Given the description of an element on the screen output the (x, y) to click on. 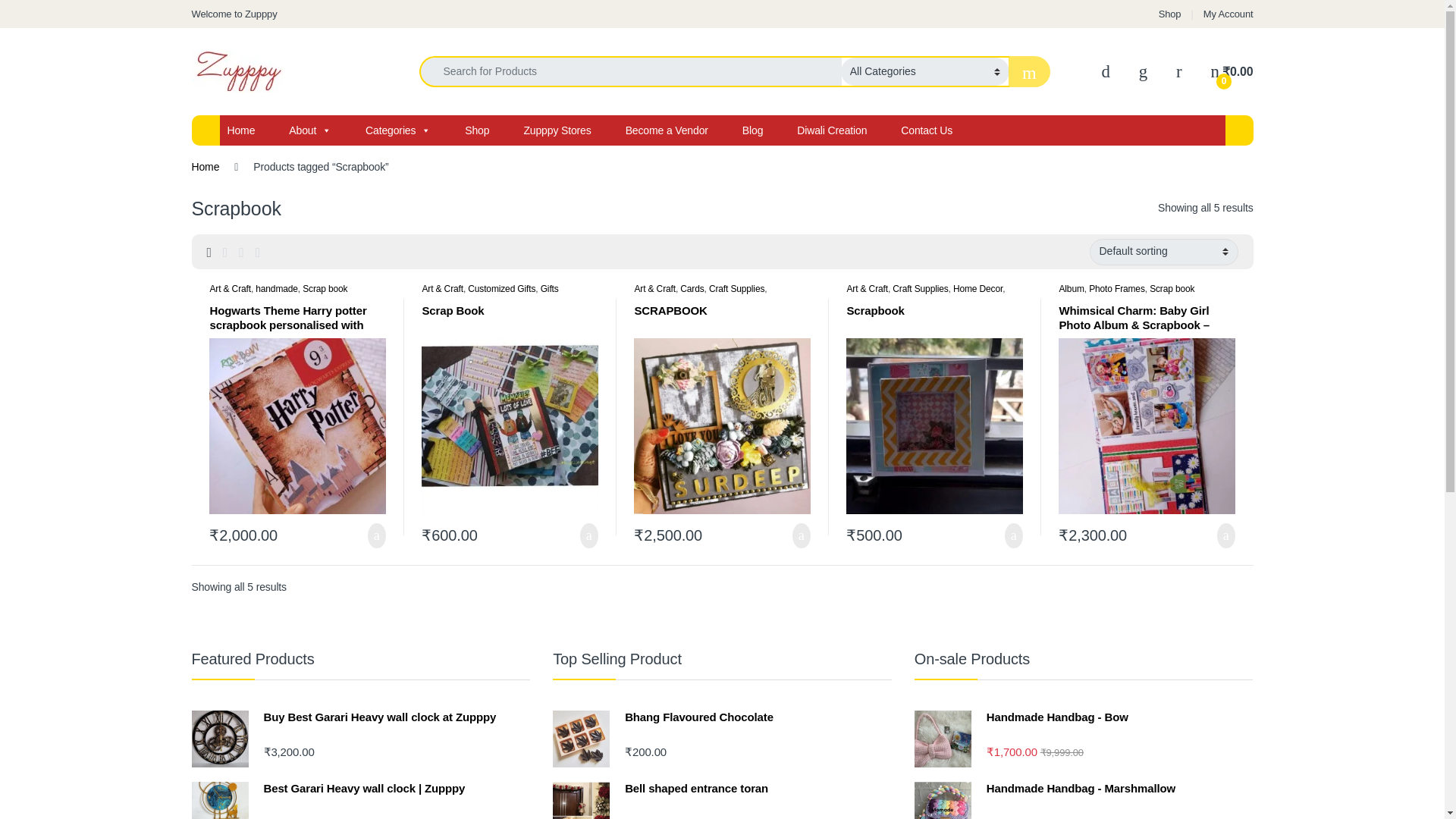
Welcome to Zupppy (233, 13)
My Account (1228, 13)
My Account (1228, 13)
Welcome to Zupppy (233, 13)
